Given the description of an element on the screen output the (x, y) to click on. 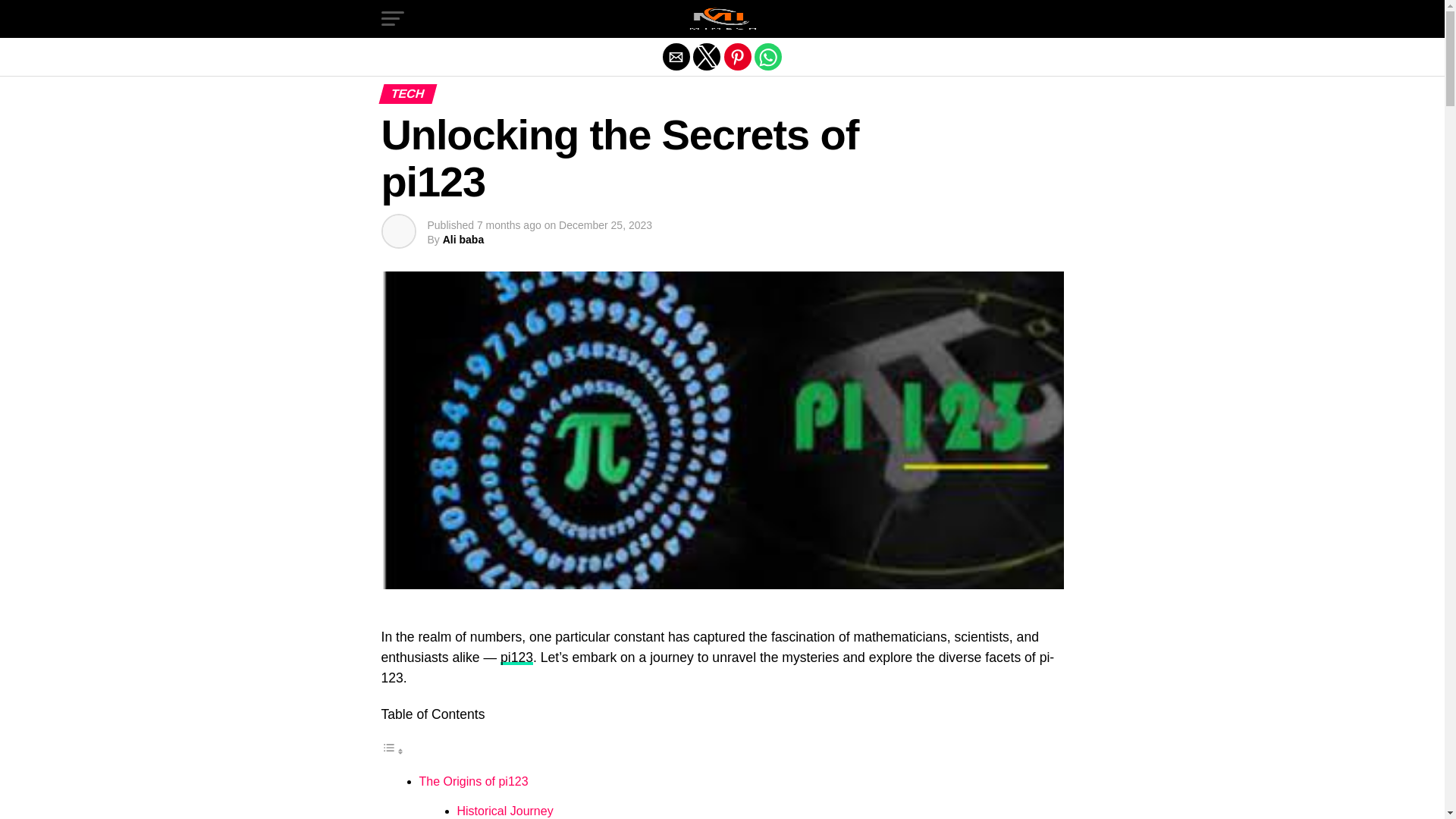
pi123 (516, 657)
Historical Journey (505, 810)
The Origins of pi123 (473, 780)
The Origins of pi123 (473, 780)
Posts by Ali baba (462, 239)
Ali baba (462, 239)
Historical Journey (505, 810)
